Given the description of an element on the screen output the (x, y) to click on. 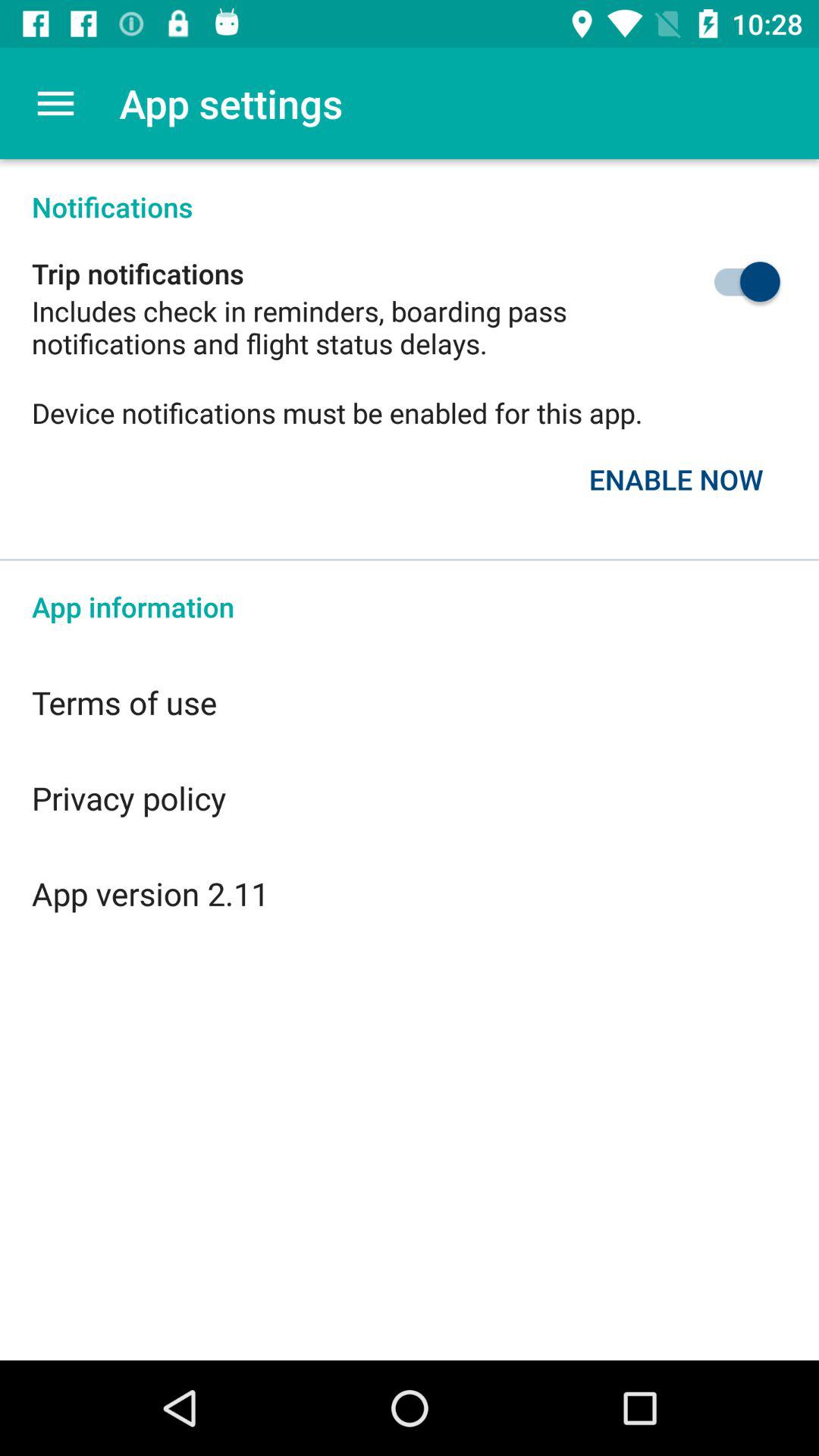
press the item below the terms of use icon (409, 797)
